Given the description of an element on the screen output the (x, y) to click on. 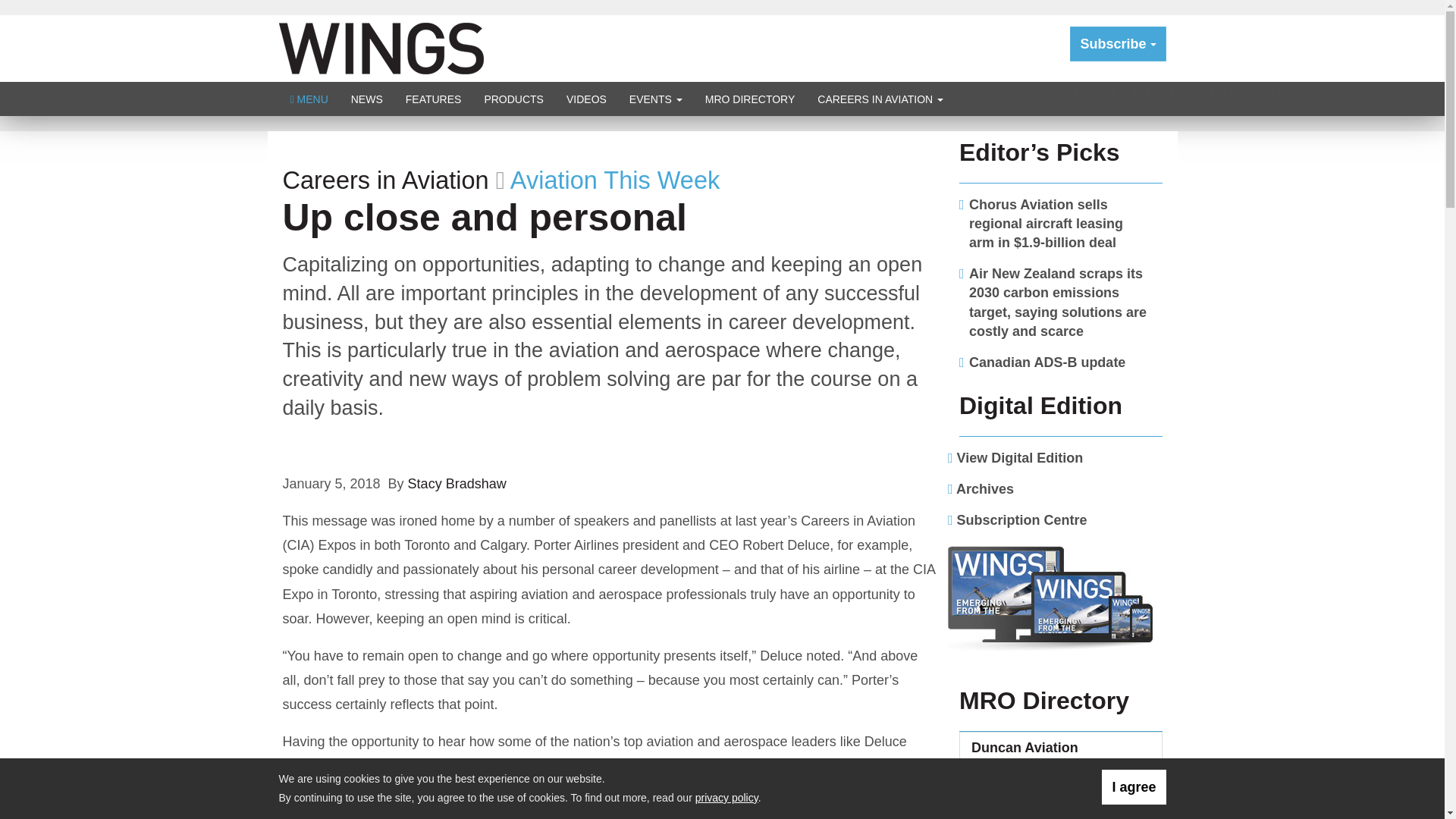
PRODUCTS (512, 98)
VIDEOS (585, 98)
EVENTS (655, 98)
MENU (309, 98)
Click to show site navigation (309, 98)
Wings Magazine (381, 47)
NEWS (366, 98)
FEATURES (433, 98)
Subscribe (1118, 43)
MRO DIRECTORY (750, 98)
CAREERS IN AVIATION (880, 98)
